Given the description of an element on the screen output the (x, y) to click on. 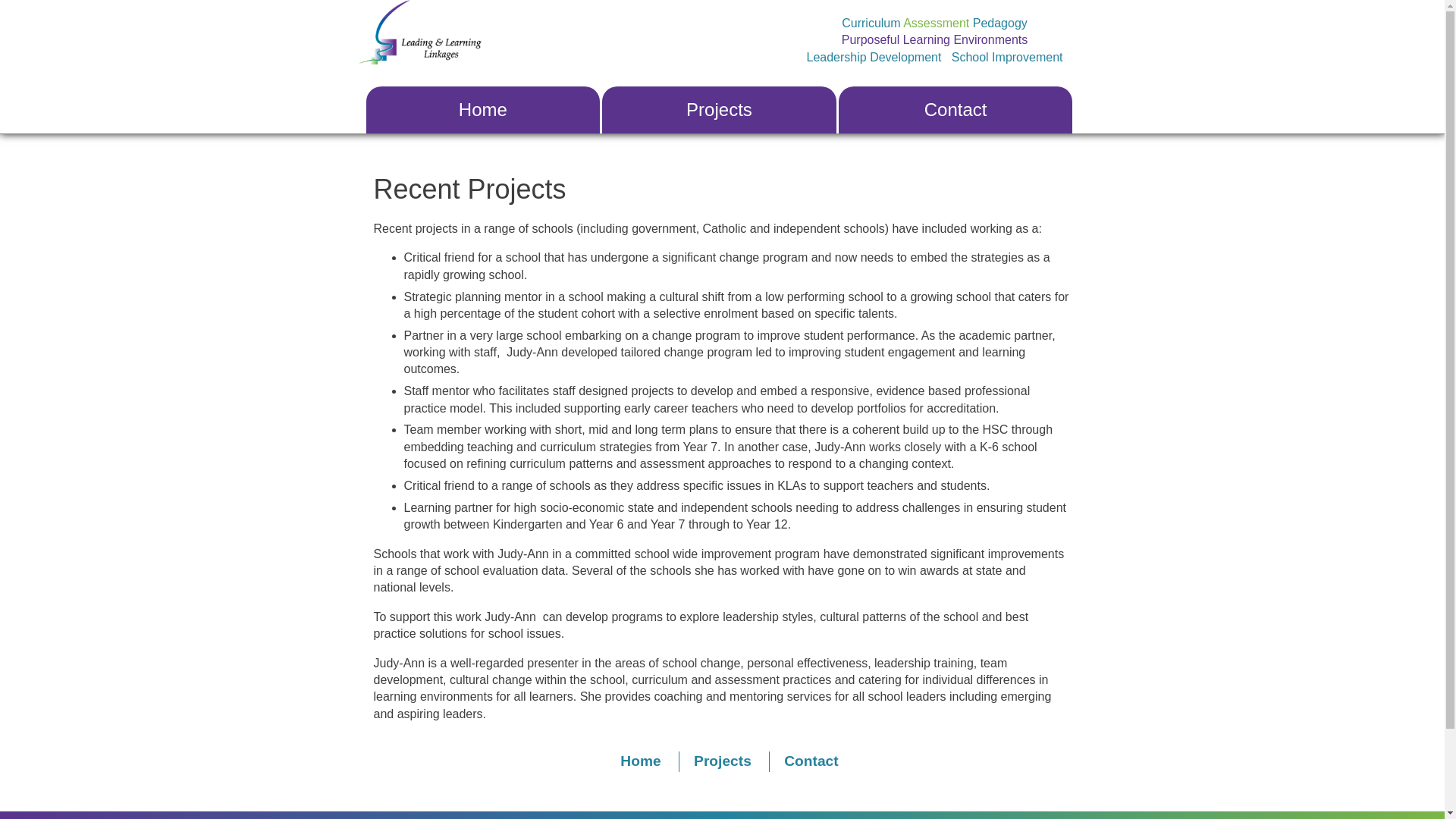
Home Element type: text (482, 109)
Contact Element type: text (810, 760)
Projects Element type: text (719, 109)
Home Element type: text (640, 760)
Contact Element type: text (955, 109)
Projects Element type: text (722, 760)
